Given the description of an element on the screen output the (x, y) to click on. 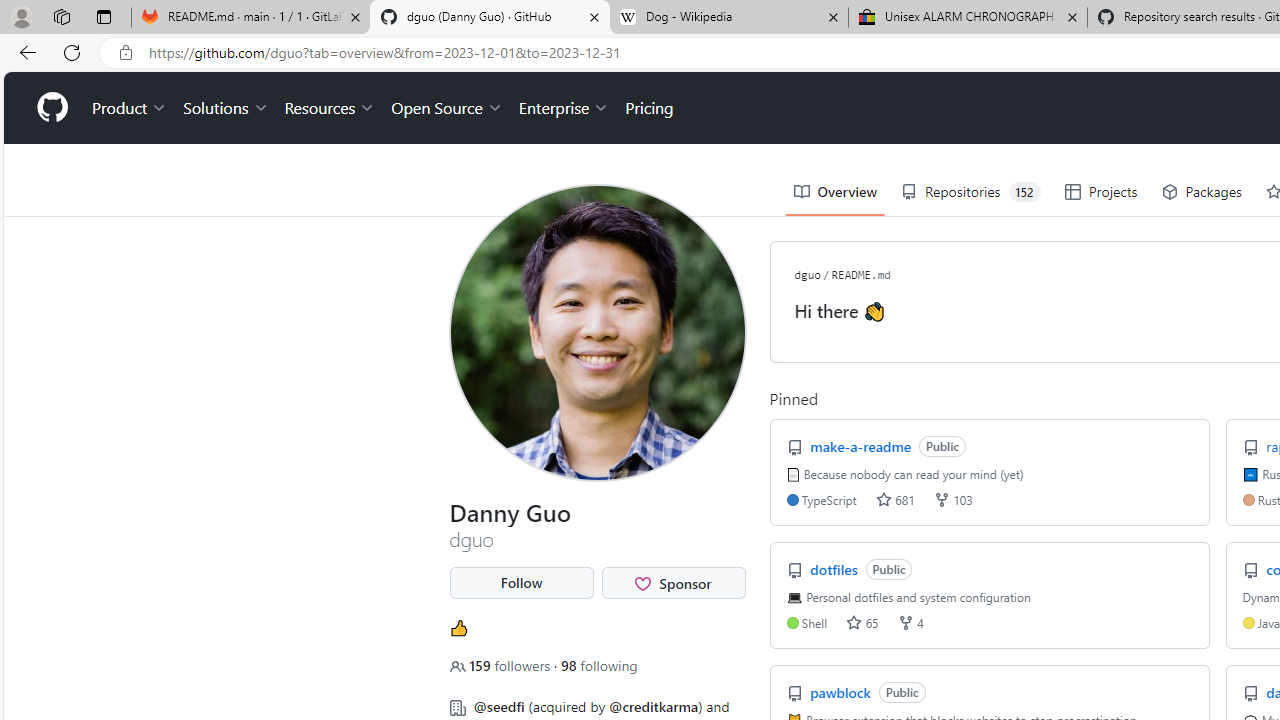
Product (130, 107)
Overview (834, 192)
Enterprise (563, 107)
Open Source (446, 107)
Packages (1201, 192)
Resources (330, 107)
Pricing (649, 107)
Homepage (51, 107)
Pricing (649, 107)
Solutions (225, 107)
dotfiles (835, 568)
